Given the description of an element on the screen output the (x, y) to click on. 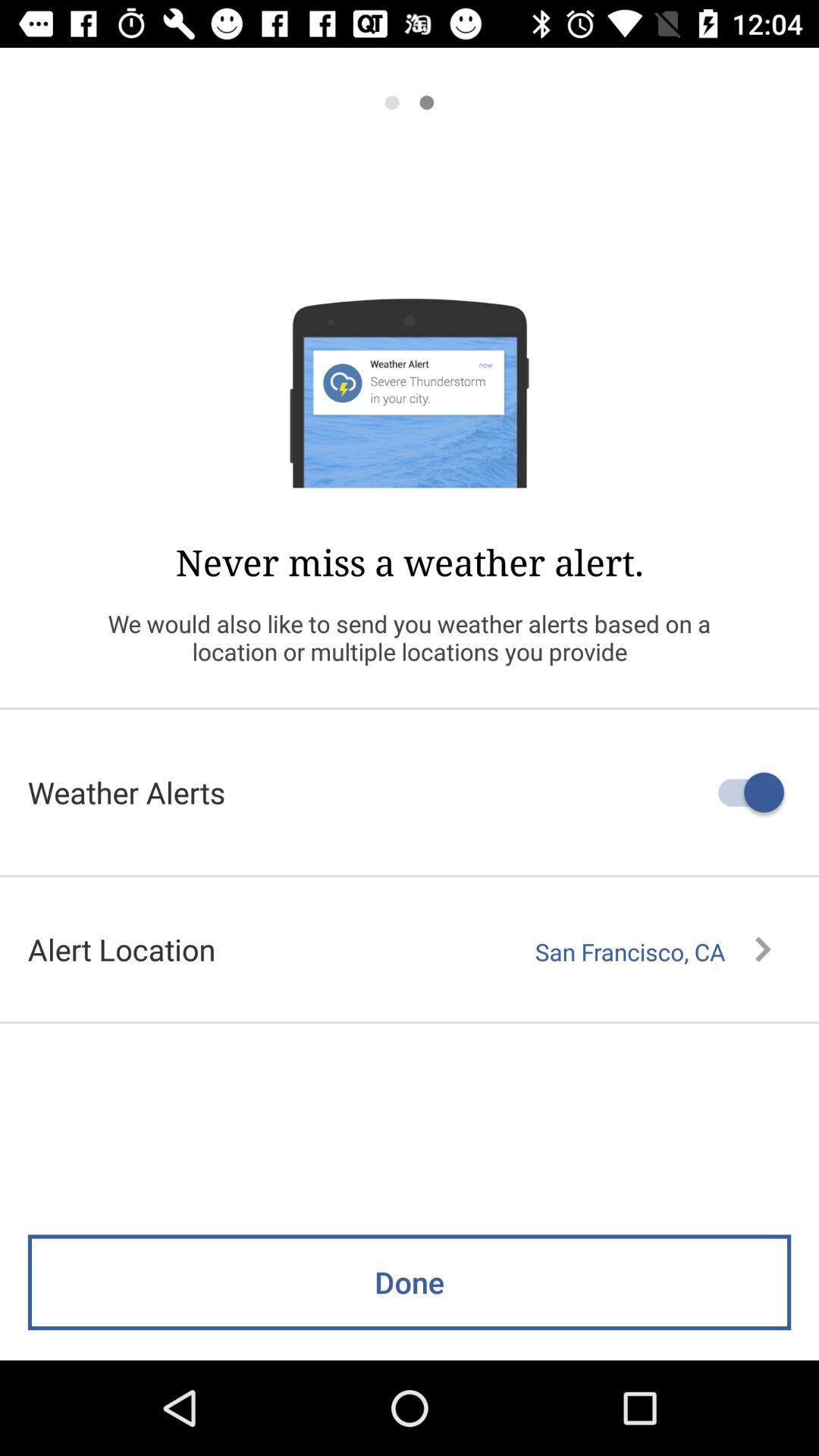
turn off done icon (409, 1282)
